Given the description of an element on the screen output the (x, y) to click on. 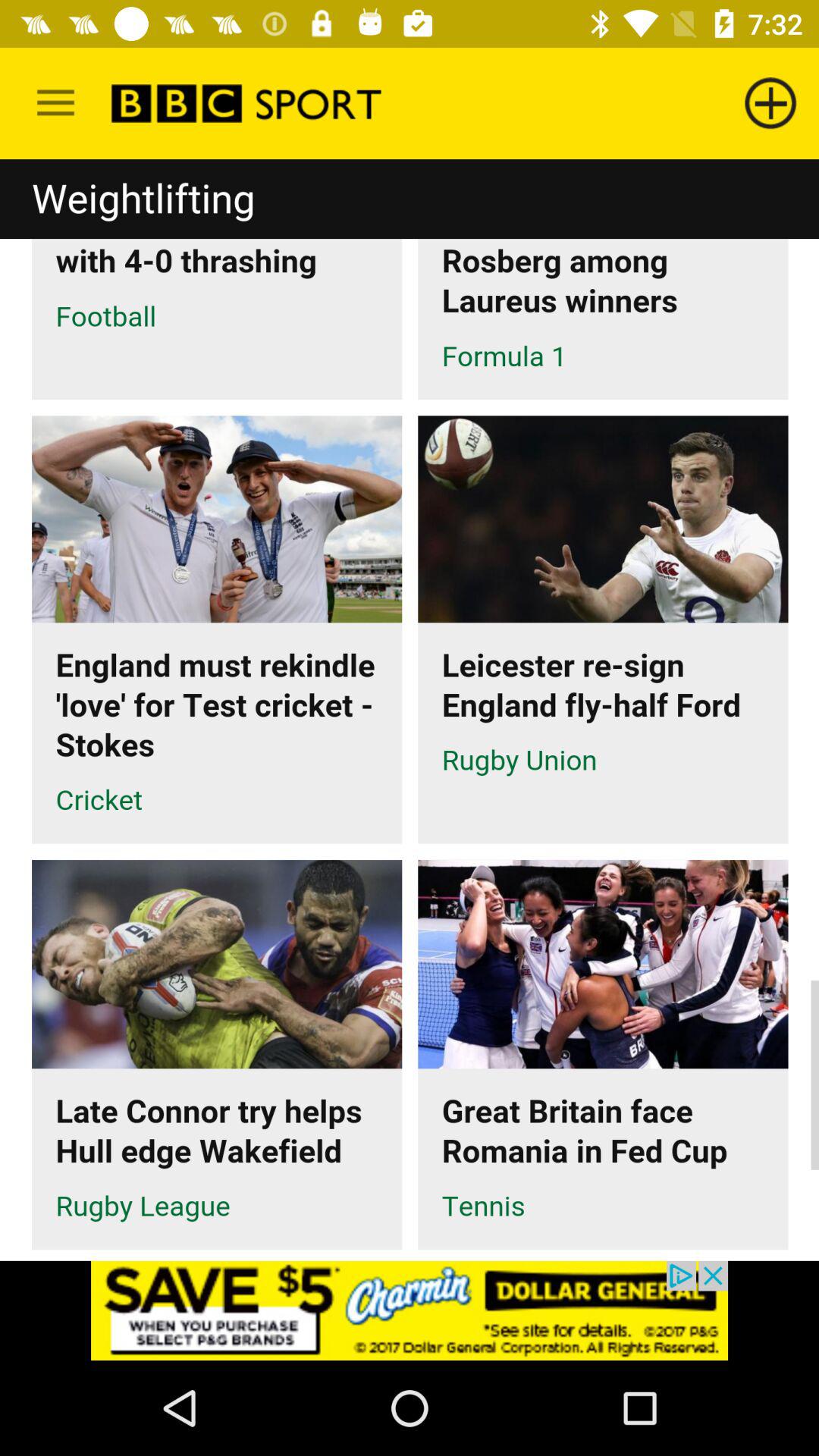
view article (409, 709)
